Given the description of an element on the screen output the (x, y) to click on. 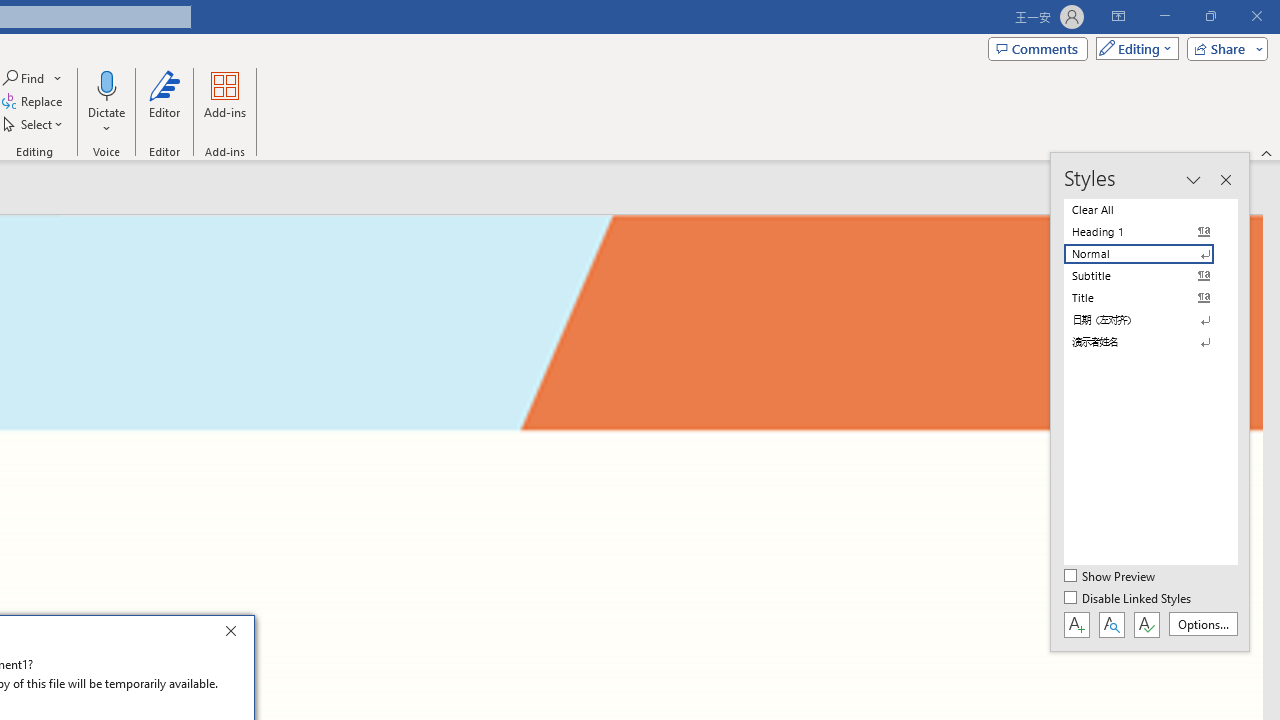
Share (1223, 48)
Class: NetUIImage (1138, 341)
Heading 1 (1150, 232)
Show Preview (1110, 577)
Class: MsoCommandBar (1149, 401)
Title (1150, 297)
Clear All (1150, 209)
Comments (1038, 48)
Minimize (1164, 16)
Editor (164, 102)
Normal (1150, 253)
Class: NetUIButton (1146, 624)
Subtitle (1150, 275)
Options... (1202, 623)
